Given the description of an element on the screen output the (x, y) to click on. 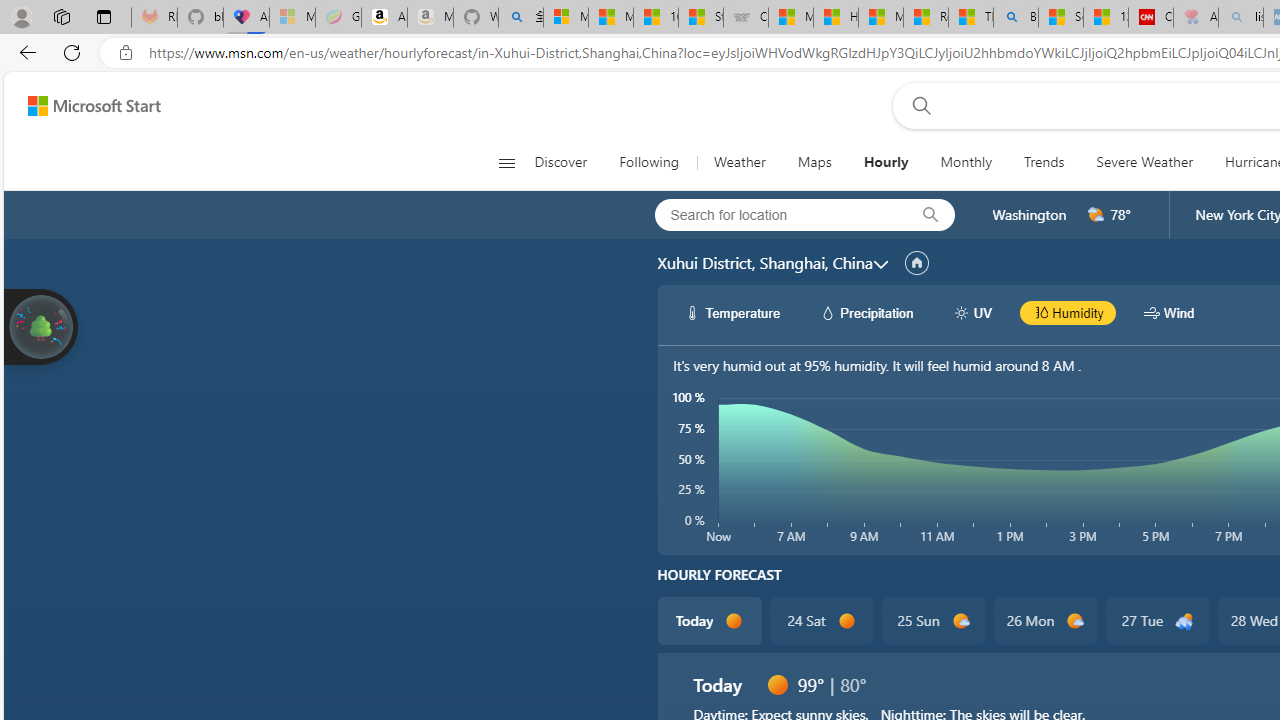
d0000 (777, 684)
Monthly (966, 162)
25 Sun d1000 (932, 620)
How I Got Rid of Microsoft Edge's Unnecessary Features (835, 17)
Maps (813, 162)
Search for location (775, 214)
